Given the description of an element on the screen output the (x, y) to click on. 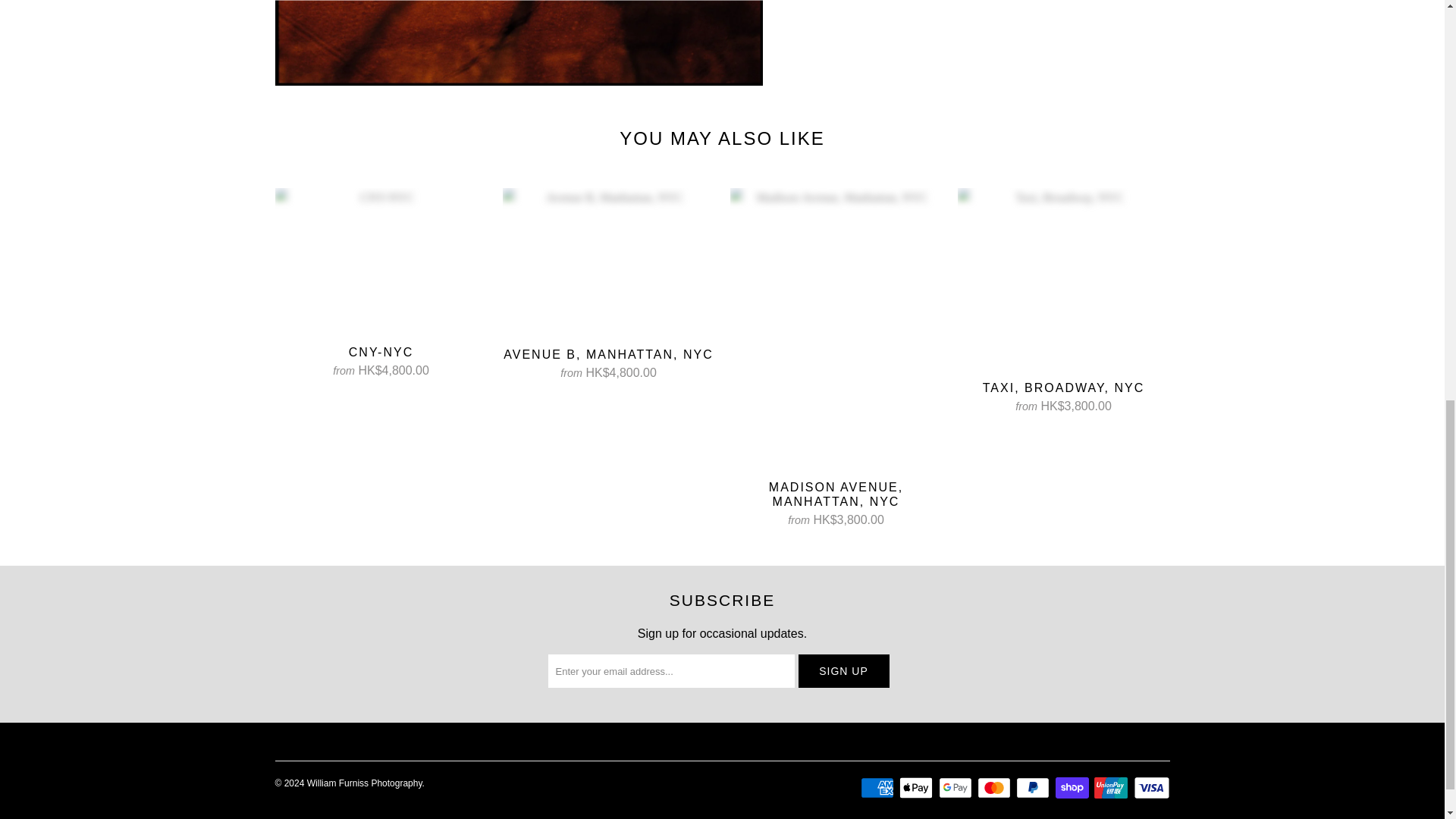
PayPal (1034, 787)
Union Pay (1112, 787)
Apple Pay (917, 787)
Visa (1150, 787)
Google Pay (957, 787)
Shop Pay (1073, 787)
American Express (878, 787)
Mastercard (994, 787)
Sign Up (842, 670)
